Given the description of an element on the screen output the (x, y) to click on. 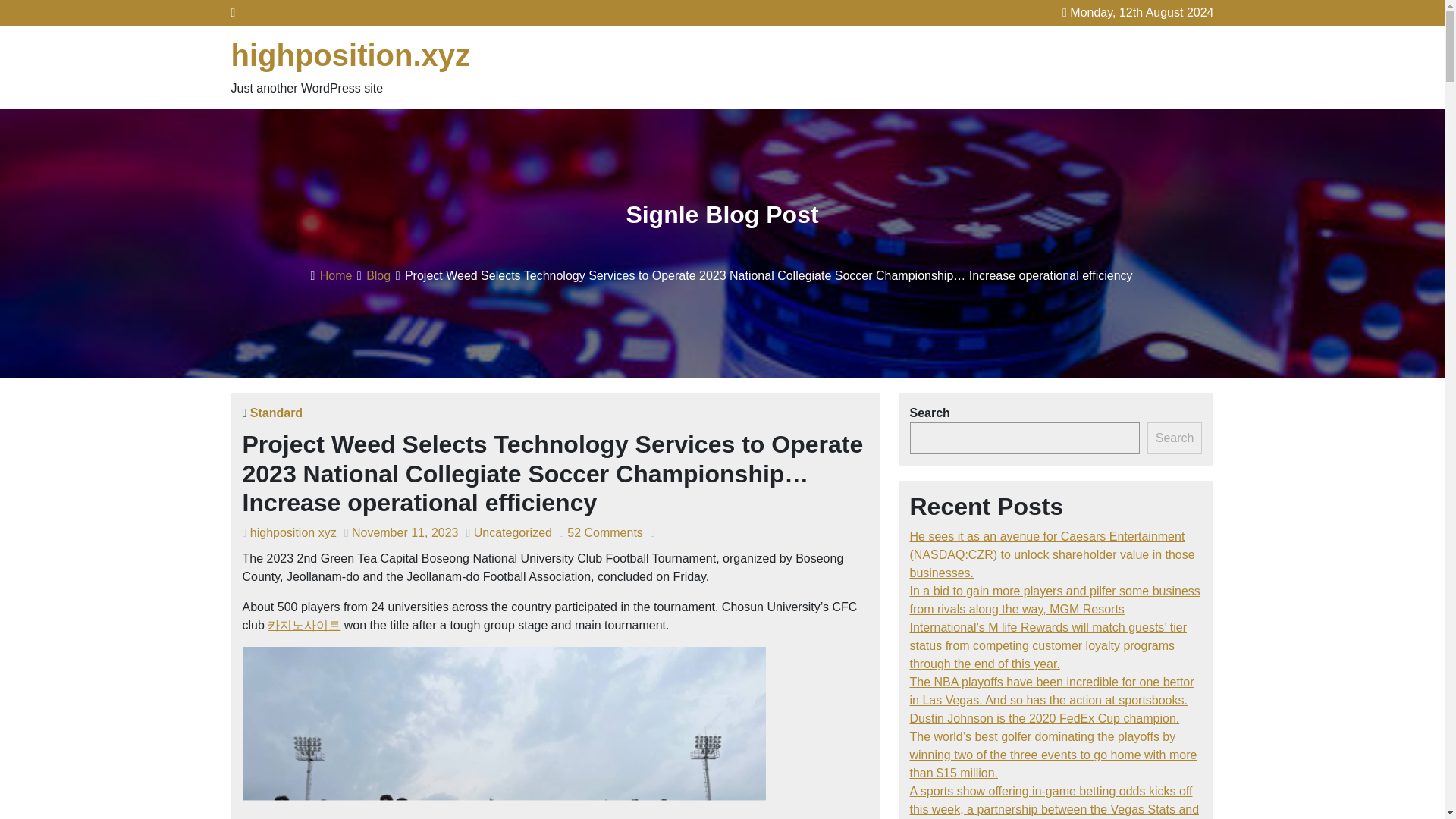
Uncategorized (512, 532)
highposition xyz (293, 532)
Blog (378, 275)
highposition.xyz (350, 55)
November 11, 2023 (405, 532)
Home (336, 275)
52 Comments (605, 532)
